Given the description of an element on the screen output the (x, y) to click on. 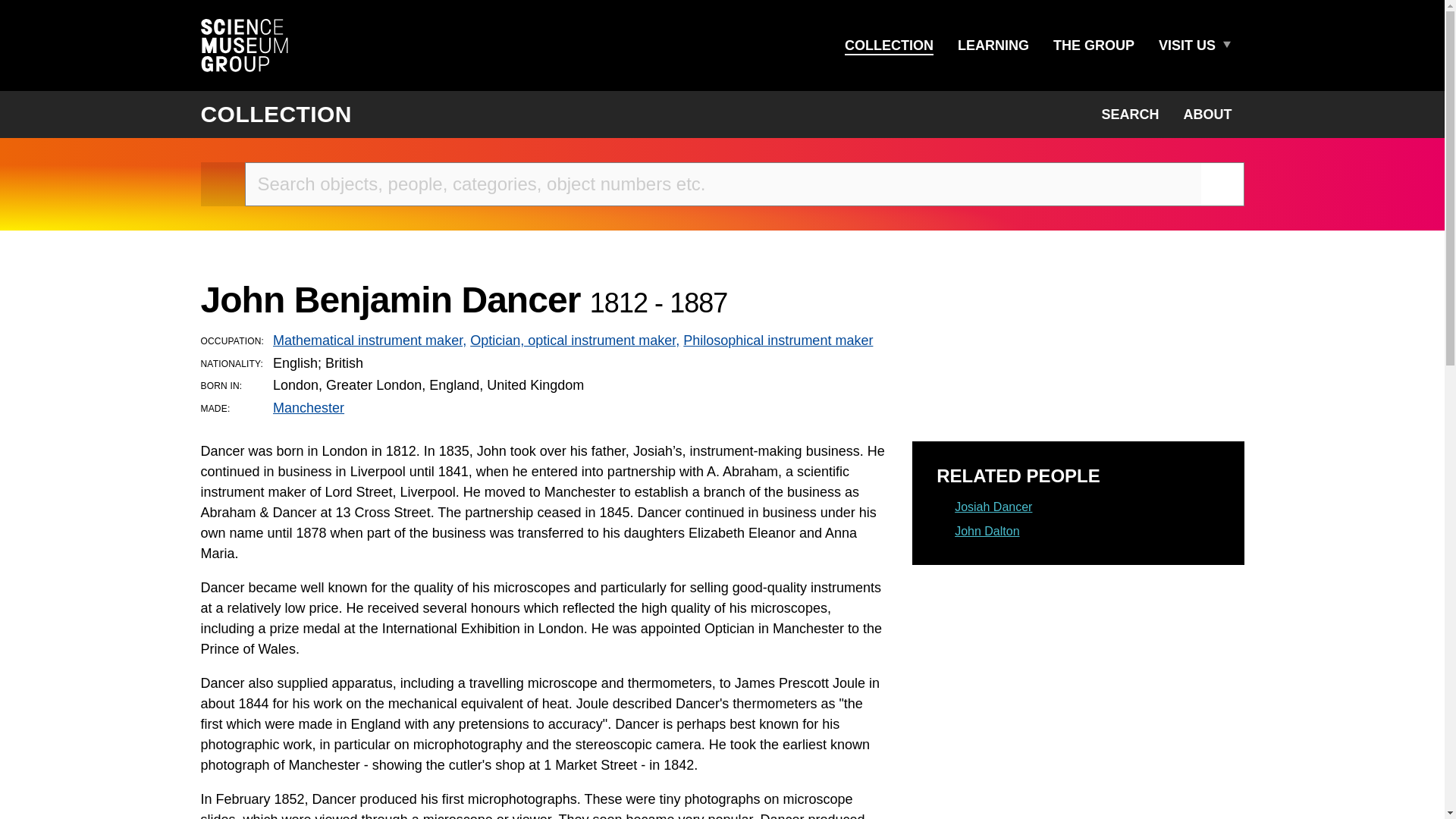
LEARNING (992, 45)
THE GROUP (1094, 45)
Back to the home page (222, 184)
Philosophical instrument maker (777, 340)
Manchester (308, 407)
Optician, optical instrument maker, (574, 340)
ABOUT (1206, 114)
COLLECTION (888, 45)
Mathematical instrument maker, (369, 340)
John Dalton (987, 531)
